Given the description of an element on the screen output the (x, y) to click on. 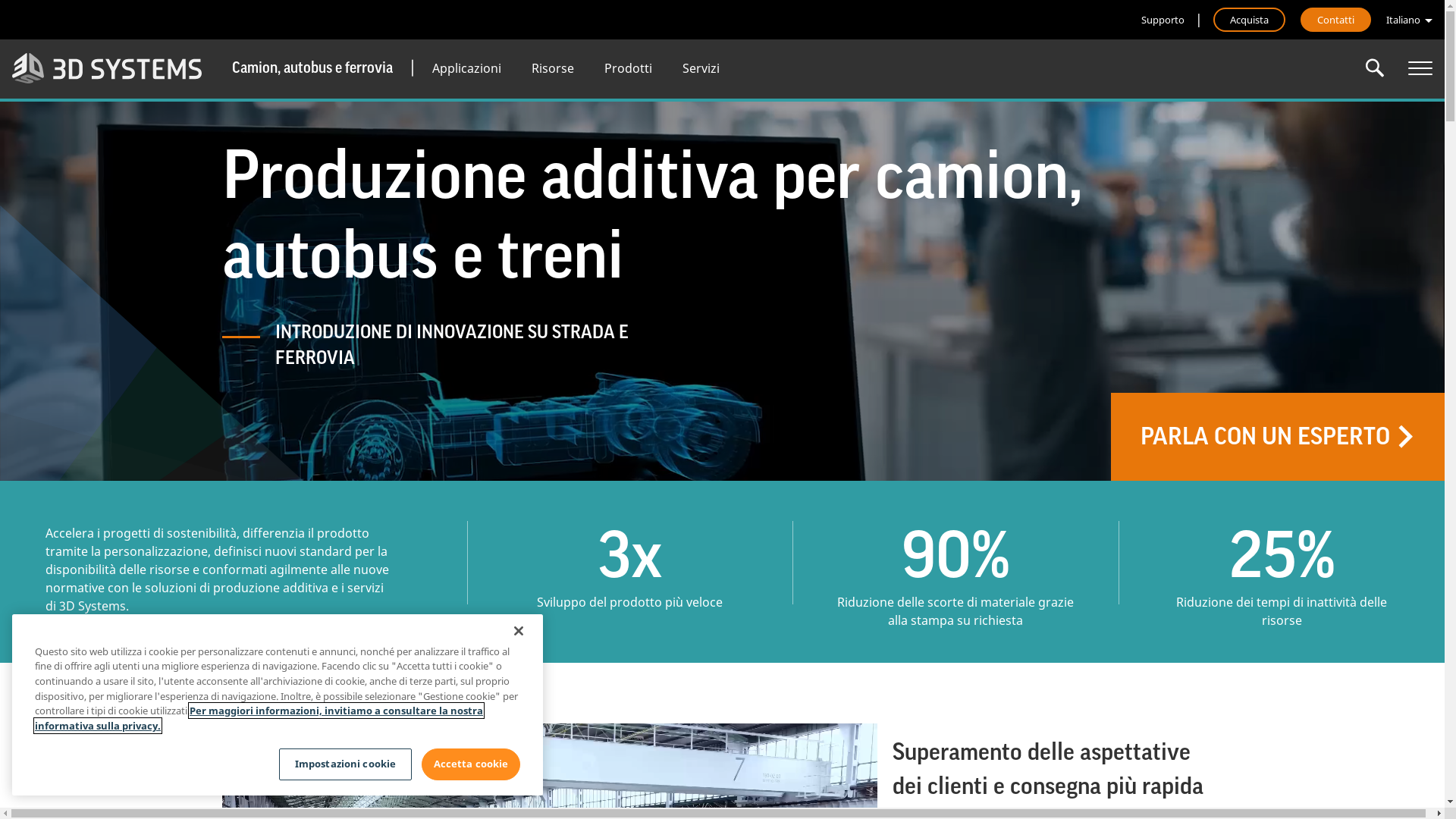
Camion, autobus e ferrovia Element type: text (311, 67)
Italiano Element type: text (1409, 20)
Risorse Element type: text (552, 67)
Search Element type: text (1374, 67)
Enter the terms you wish to search for. Element type: hover (1374, 67)
Acquista Element type: text (1249, 19)
Tutti i prodotti 3D Systems Element type: text (1420, 68)
Servizi Element type: text (700, 67)
Supporto Element type: text (1162, 19)
Salta al contenuto principale Element type: text (0, 0)
PARLA CON UN ESPERTO Element type: text (1277, 436)
Prodotti Element type: text (628, 67)
Contatti Element type: text (1335, 19)
Applicazioni Element type: text (466, 67)
